Given the description of an element on the screen output the (x, y) to click on. 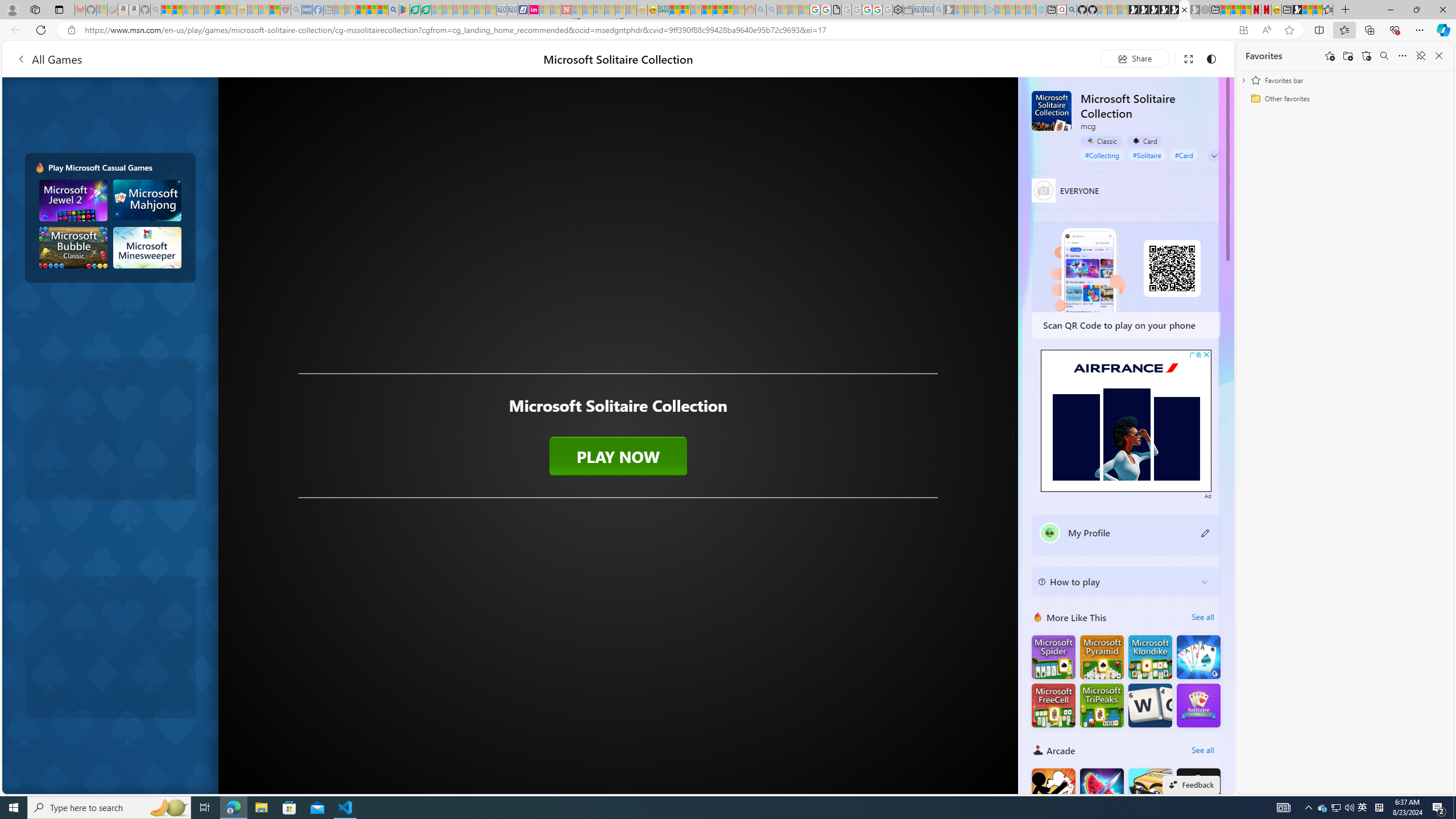
Cubes2048 (1149, 789)
14 Common Myths Debunked By Scientific Facts - Sleeping (588, 9)
Microsoft Word - consumer-privacy address update 2.2021 (426, 9)
Microsoft Minesweeper (147, 247)
Recipes - MSN - Sleeping (253, 9)
